Given the description of an element on the screen output the (x, y) to click on. 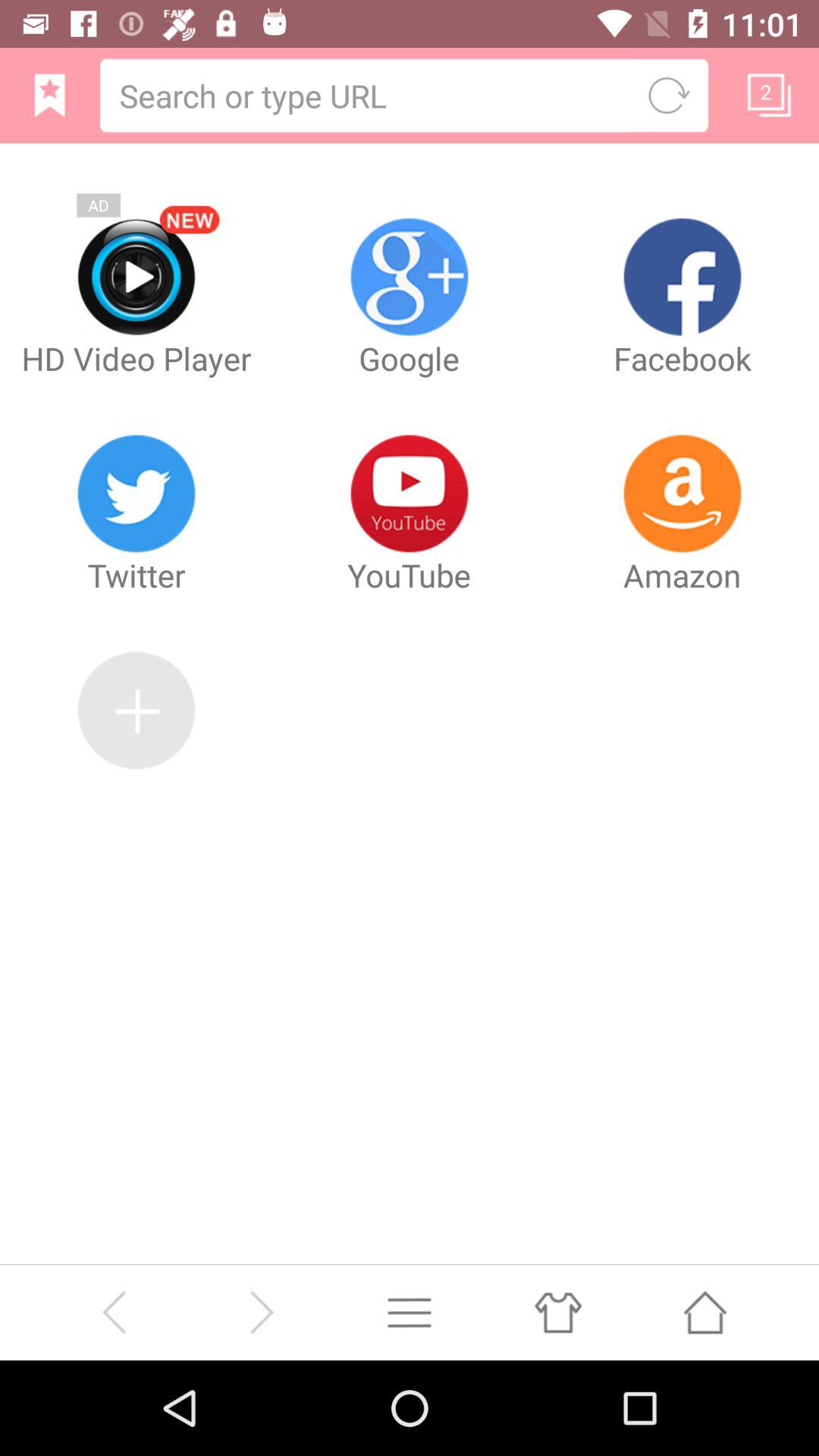
go home (705, 1312)
